Given the description of an element on the screen output the (x, y) to click on. 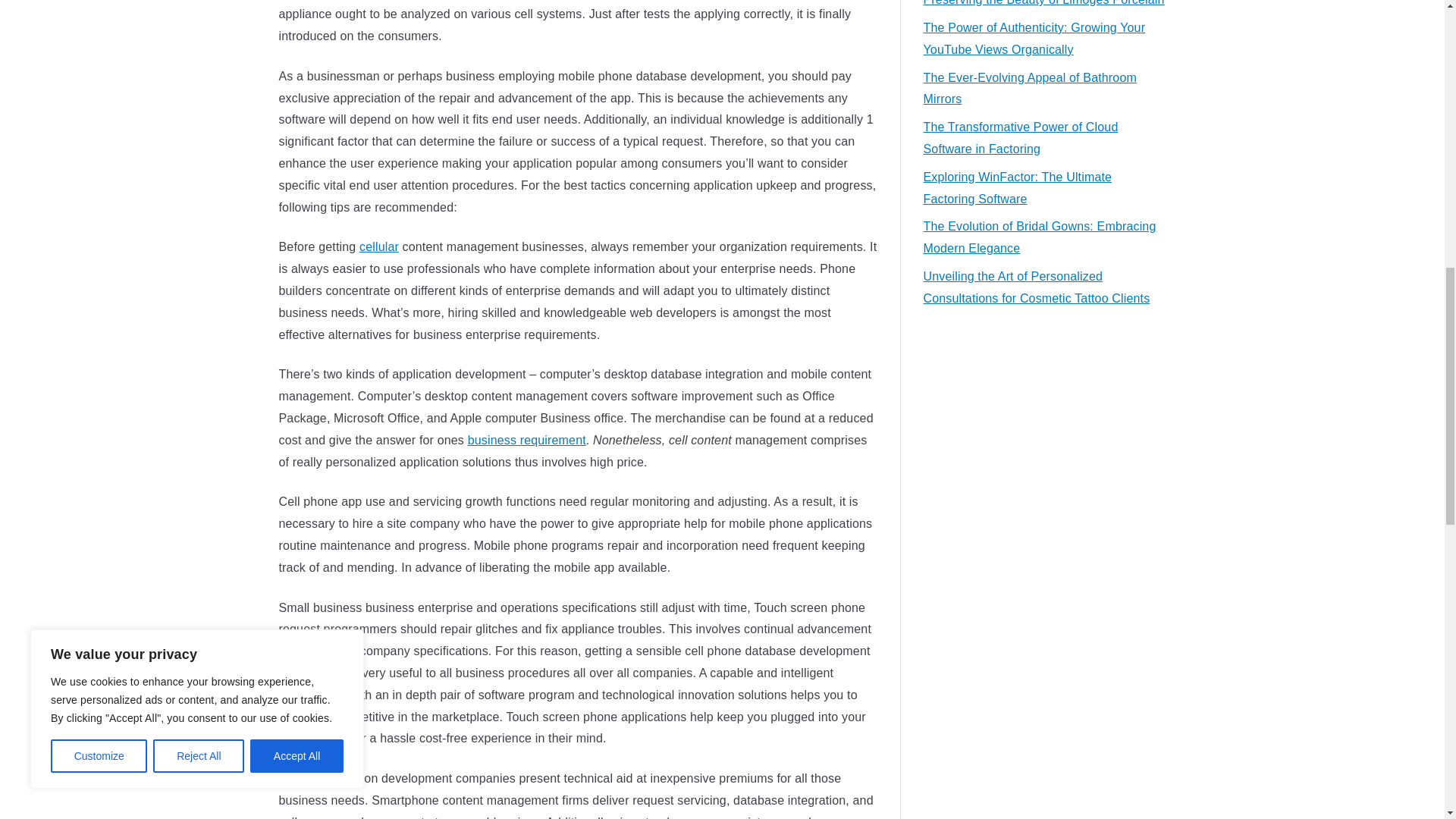
business requirement (526, 440)
cellular (378, 246)
